Given the description of an element on the screen output the (x, y) to click on. 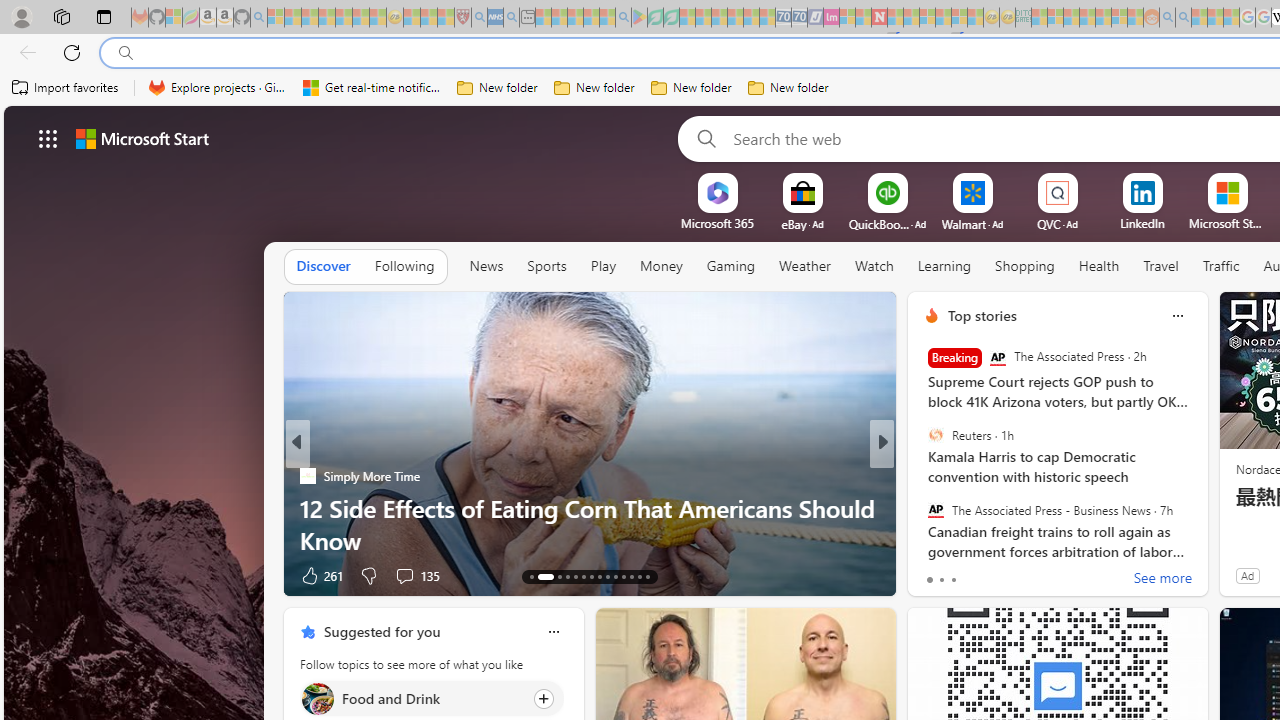
AutomationID: tab-26 (646, 576)
AutomationID: tab-23 (623, 576)
View comments 67 Comment (1021, 574)
73 Like (934, 574)
View comments 3 Comment (1014, 575)
